Given the description of an element on the screen output the (x, y) to click on. 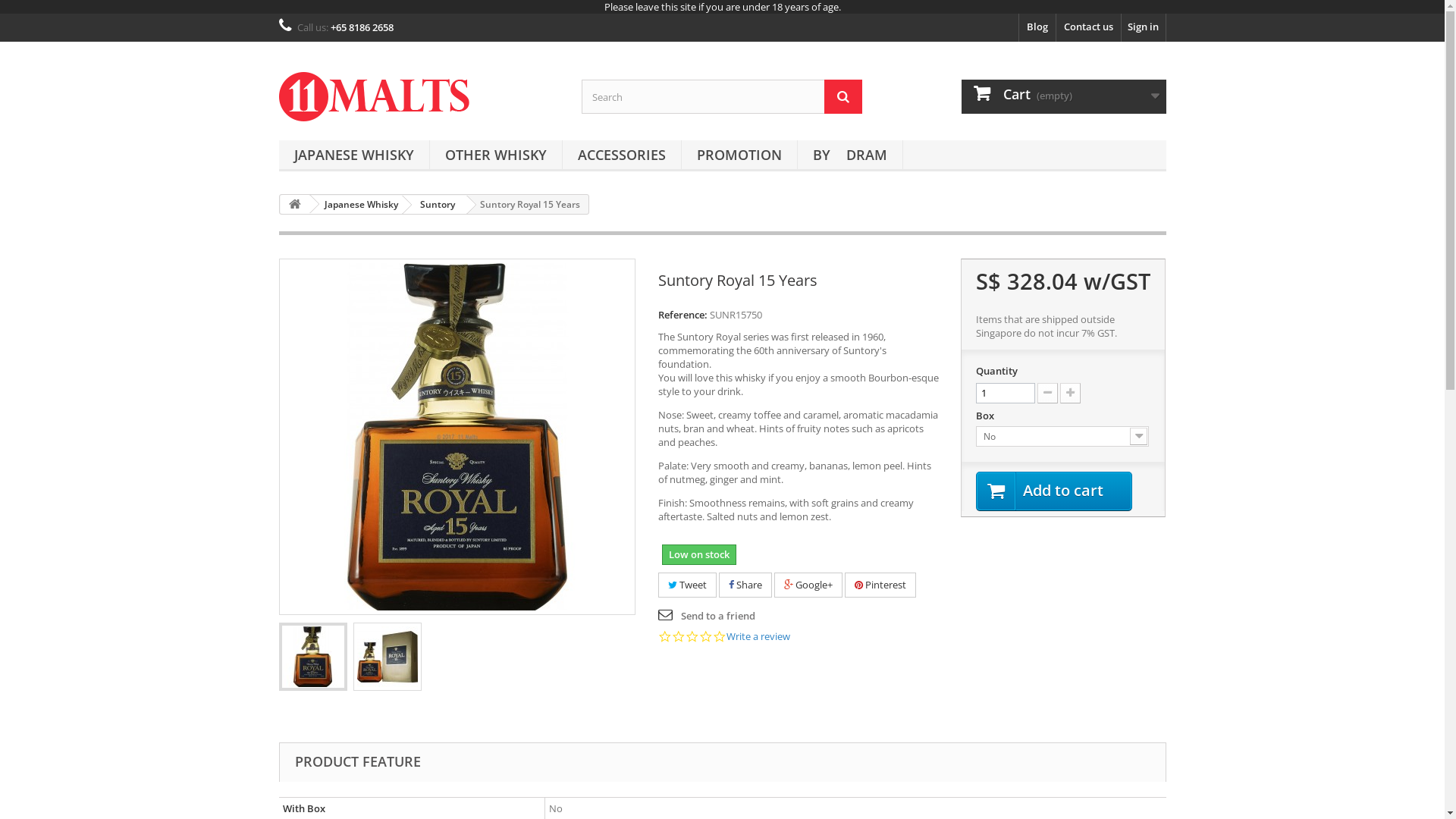
Google+ Element type: text (807, 584)
Send to a friend Element type: text (706, 615)
Suntory Royal 15 Years Element type: hover (313, 656)
Suntory Royal 15 Years Element type: hover (387, 656)
Cart (empty) Element type: text (1063, 96)
ACCESSORIES Element type: text (621, 155)
Add to cart Element type: text (1053, 491)
JAPANESE WHISKY Element type: text (354, 155)
Sign in Element type: text (1142, 27)
Suntory Royal 15 Years Element type: hover (386, 656)
OTHER WHISKY Element type: text (495, 155)
Blog Element type: text (1037, 27)
Suntory Element type: text (434, 204)
Contact us Element type: text (1087, 27)
Write a review Element type: text (758, 636)
PROMOTION Element type: text (738, 155)
Japanese Whisky Element type: text (358, 204)
Pinterest Element type: text (880, 584)
Suntory Royal 15 Years Element type: hover (456, 436)
Suntory Royal 15 Years Element type: hover (312, 656)
Tweet Element type: text (687, 584)
11 Malts Pte Ltd Element type: hover (419, 96)
Share Element type: text (744, 584)
Return to Home Element type: hover (294, 203)
